Given the description of an element on the screen output the (x, y) to click on. 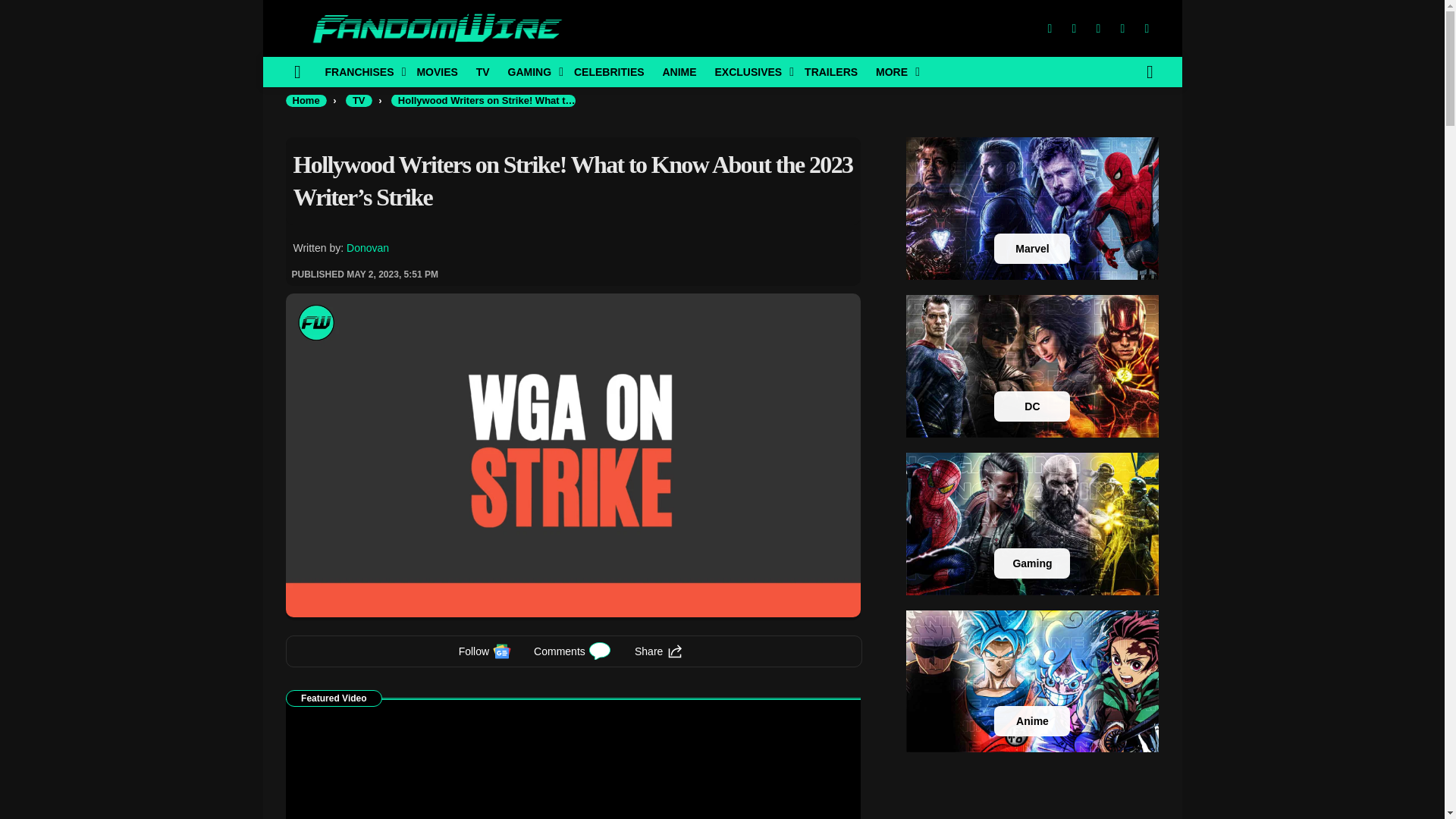
Twitter (1073, 28)
Insta (1097, 28)
GAMING (532, 71)
EXCLUSIVES (749, 71)
Menu (296, 71)
LinkedIn (1121, 28)
TV (482, 71)
Facebook (1048, 28)
MOVIES (436, 71)
FRANCHISES (361, 71)
